Given the description of an element on the screen output the (x, y) to click on. 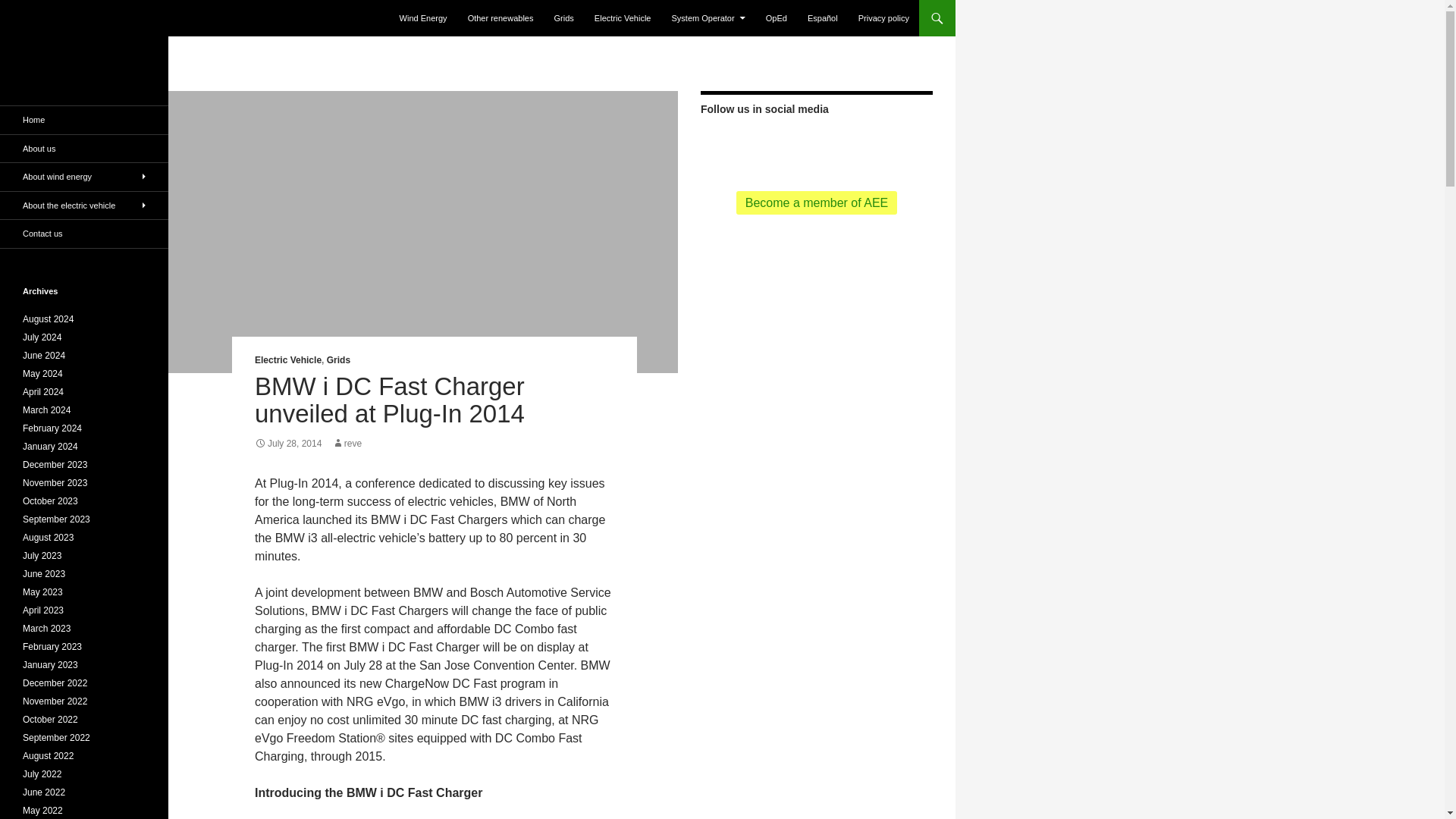
Grids (563, 18)
flickr (871, 144)
flickr (871, 145)
Electric Vehicle (287, 359)
facebook (816, 144)
July 28, 2014 (287, 443)
RSS (761, 145)
twitter (789, 144)
OpEd (776, 18)
Electric Vehicle (623, 18)
facebook (816, 145)
Wind Energy (423, 18)
reve (346, 443)
System Operator (708, 18)
Other renewables (500, 18)
